Given the description of an element on the screen output the (x, y) to click on. 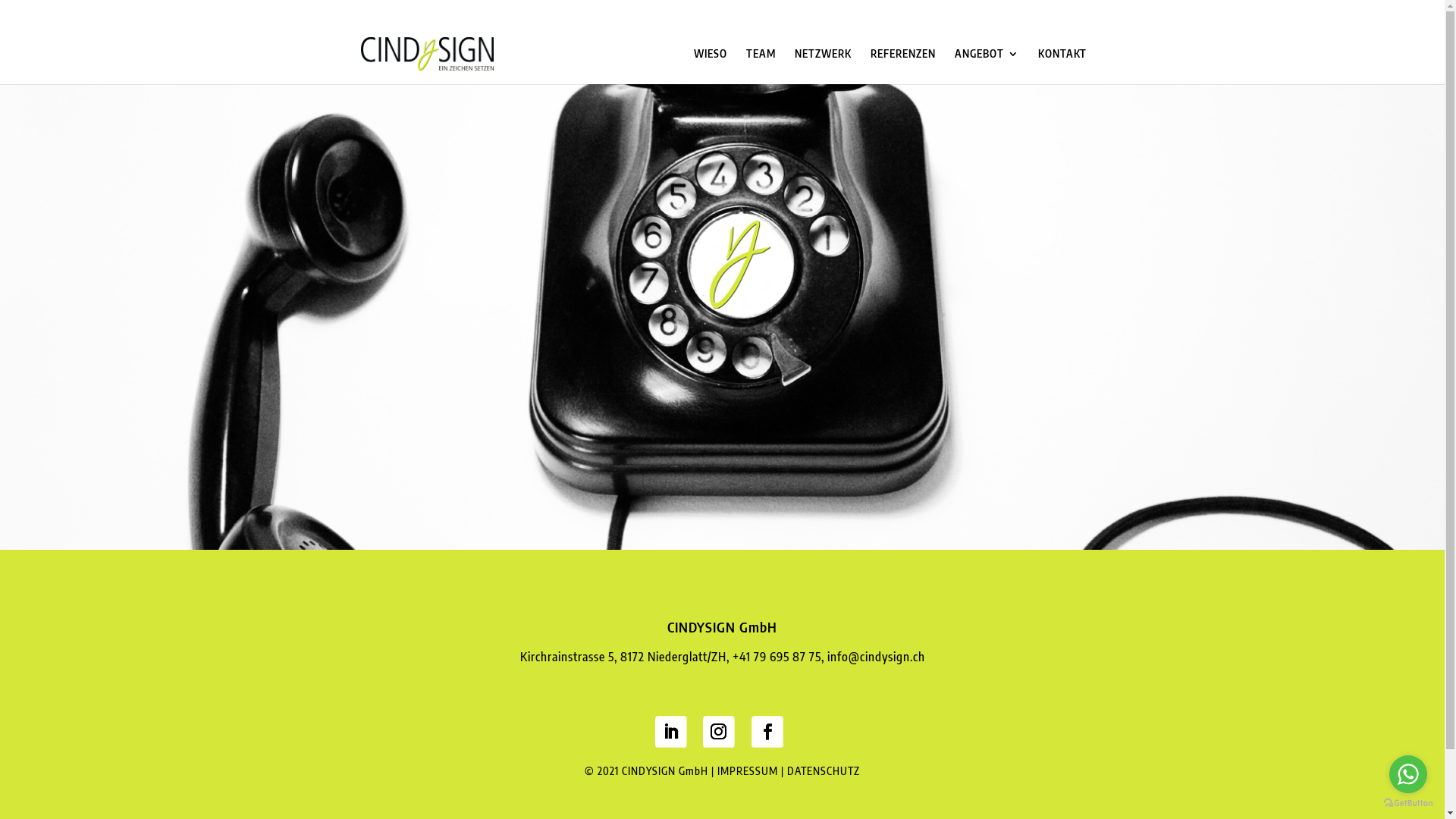
TEAM Element type: text (760, 66)
NETZWERK Element type: text (822, 66)
Folge auf Instagram Element type: hover (714, 727)
KONTAKT Element type: text (1061, 66)
info@cindysign.ch Element type: text (875, 656)
DATENSCHUTZ Element type: text (823, 770)
WIESO Element type: text (709, 66)
IMPRESSUM |  Element type: text (752, 770)
ANGEBOT Element type: text (985, 66)
cindy@cindysign.ch Element type: text (407, 11)
Folge auf LinkedIn Element type: hover (667, 727)
REFERENZEN Element type: text (902, 66)
Folge auf Facebook Element type: hover (763, 727)
